Given the description of an element on the screen output the (x, y) to click on. 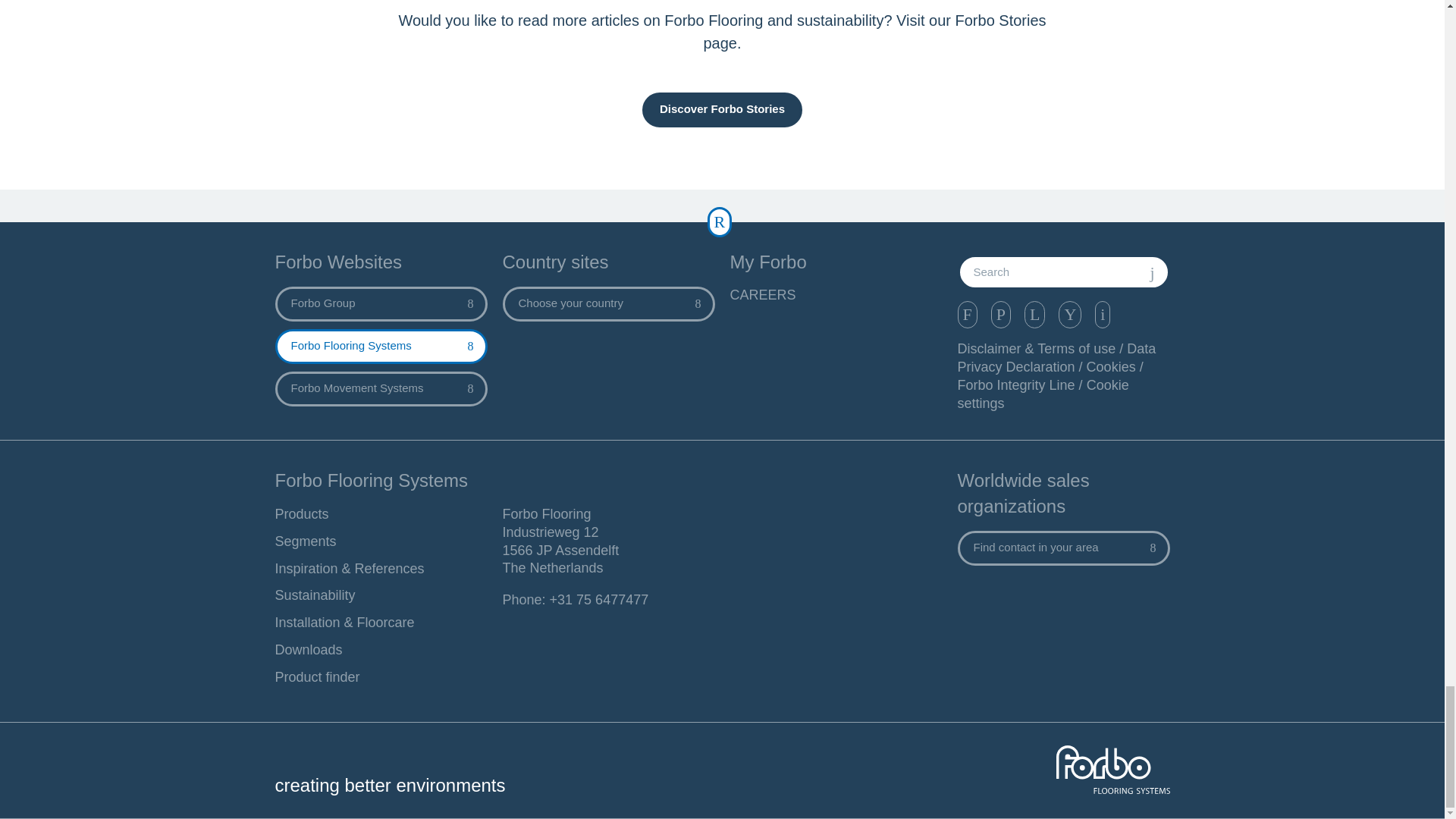
Choose your country (608, 303)
Forbo Group (380, 303)
Discover Forbo Stories (722, 109)
CAREERS (835, 295)
Forbo Movement Systems (380, 388)
Forbo Flooring Systems (380, 346)
